Given the description of an element on the screen output the (x, y) to click on. 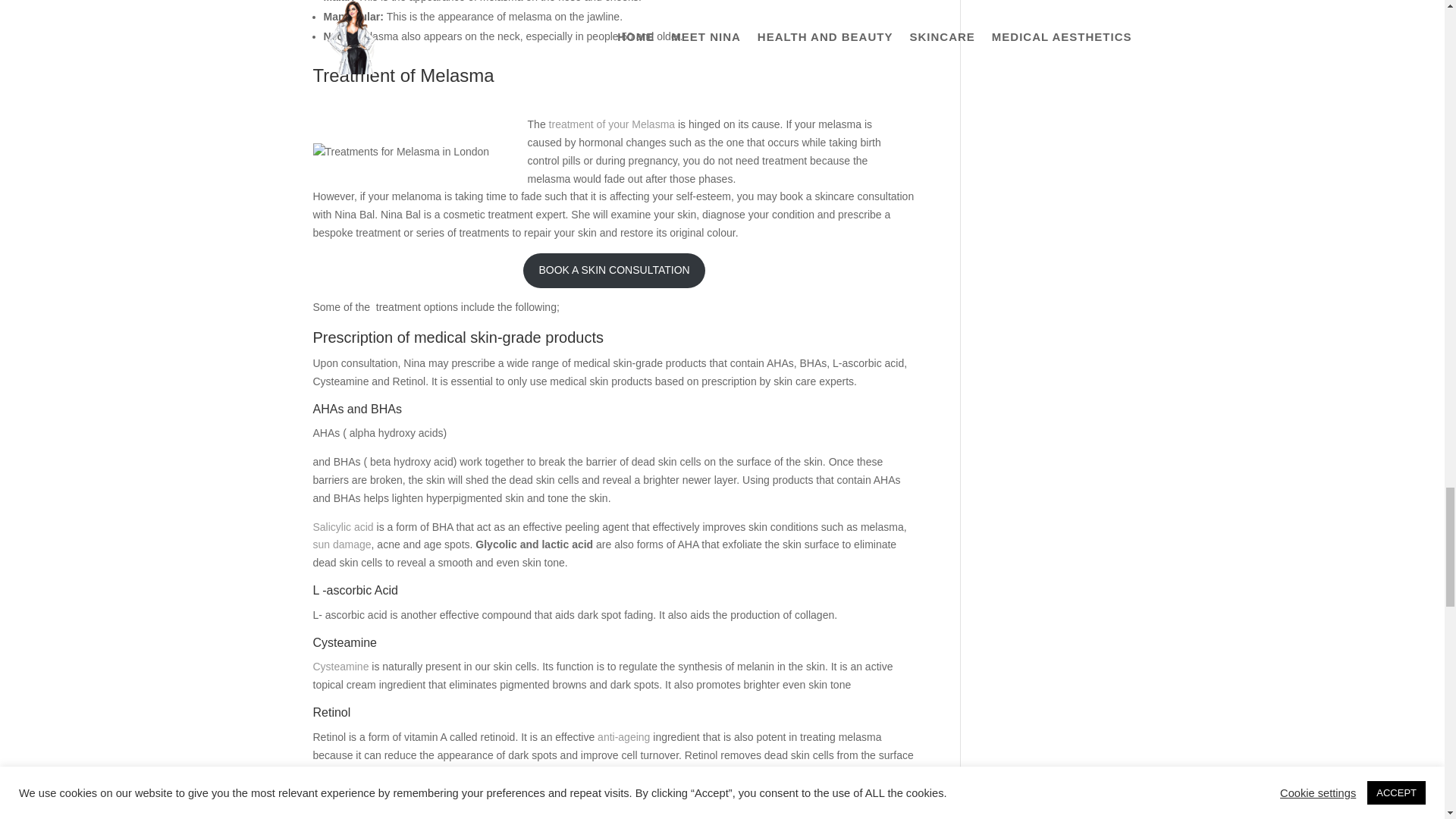
treatment of your Melasma (611, 123)
Cysteamine (340, 666)
anti-ageing (622, 736)
sun damage (342, 544)
Salicylic acid (344, 526)
BOOK A SKIN CONSULTATION (613, 270)
